Given the description of an element on the screen output the (x, y) to click on. 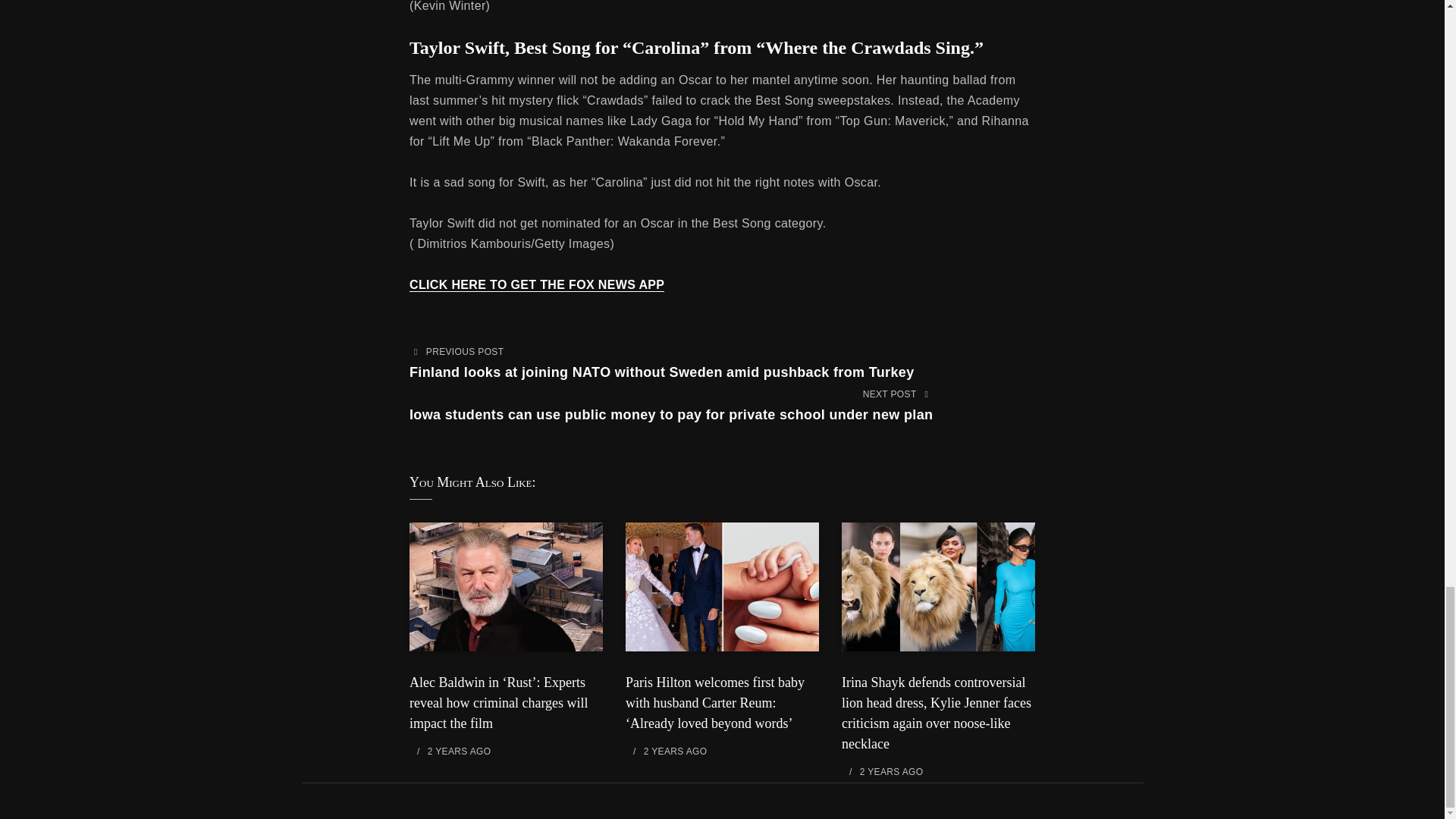
2 YEARS (447, 751)
CLICK HERE TO GET THE FOX NEWS APP (536, 284)
2 YEARS (879, 771)
2 YEARS (663, 751)
